Given the description of an element on the screen output the (x, y) to click on. 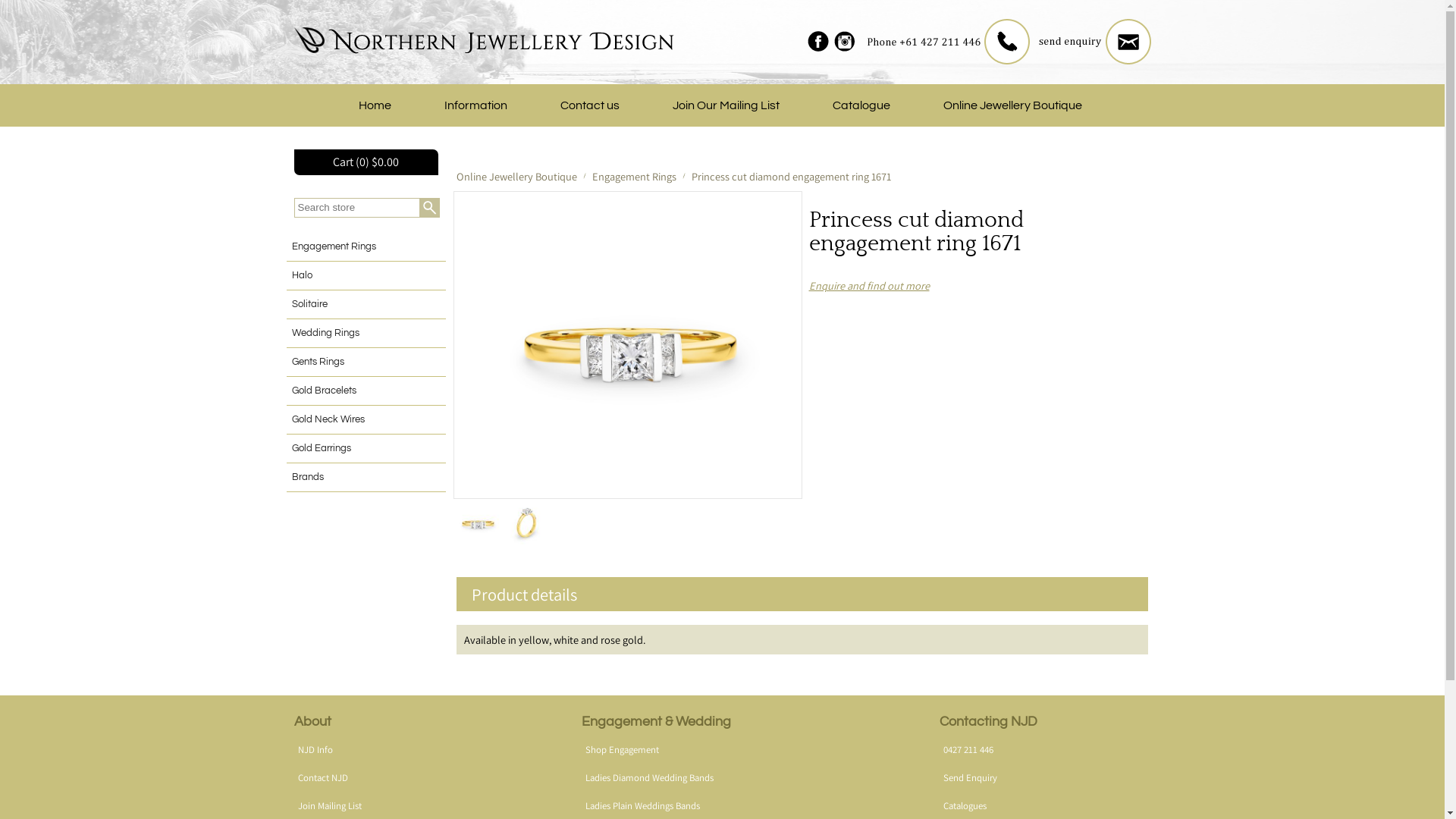
Shop Engagement Element type: text (621, 749)
Enquire and find out more Element type: text (868, 285)
Ladies Diamond Wedding Bands Element type: text (649, 777)
Join Our Mailing List Element type: text (726, 105)
Princess cut diamond engagement ring 1671 Element type: hover (627, 344)
Gold Neck Wires Element type: text (365, 419)
Halo Element type: text (365, 275)
Gents Rings Element type: text (365, 362)
Contact NJD Element type: text (322, 777)
Join Mailing List Element type: text (328, 805)
Gold Earrings Element type: text (365, 448)
Catalogues Element type: text (964, 805)
Ladies Plain Weddings Bands Element type: text (642, 805)
Home Element type: text (374, 105)
Gold Bracelets Element type: text (365, 390)
Contact us Element type: text (589, 105)
Cart (0) $0.00 Element type: text (366, 162)
Solitaire Element type: text (365, 304)
Information Element type: text (475, 105)
Online Jewellery Boutique Element type: text (516, 176)
Princess cut diamond engagement ring 1671 Element type: text (791, 176)
Catalogue Element type: text (860, 105)
0427 211 446 Element type: text (968, 749)
Engagement Rings Element type: text (365, 246)
Send Enquiry Element type: text (970, 777)
Wedding Rings Element type: text (365, 333)
NJD Info Element type: text (314, 749)
Brands Element type: text (365, 477)
Online Jewellery Boutique Element type: text (1011, 105)
Engagement Rings Element type: text (633, 176)
